Given the description of an element on the screen output the (x, y) to click on. 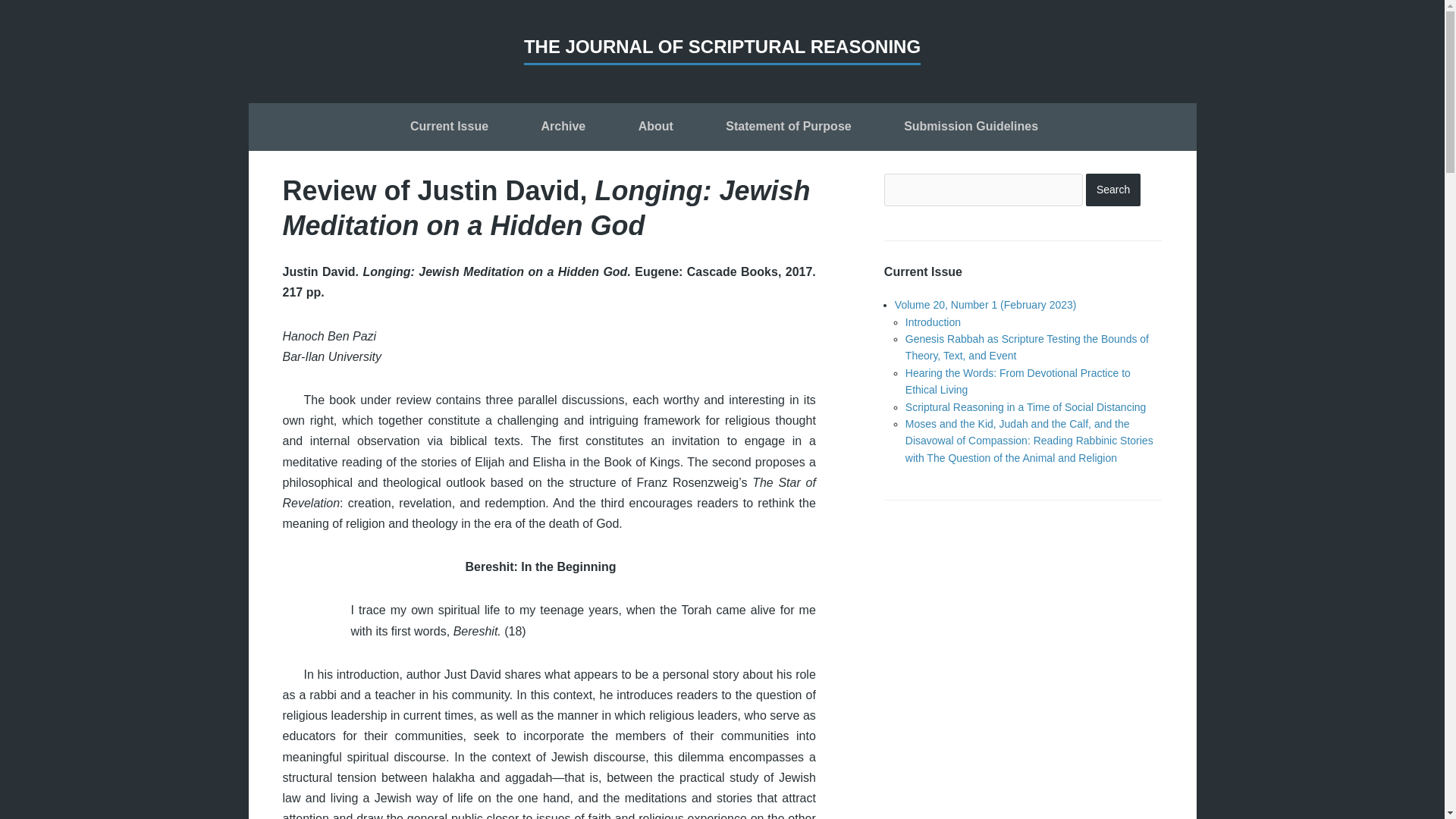
Archive (563, 128)
Current Issue (449, 128)
Introduction (932, 322)
Search (1113, 189)
Statement of Purpose (787, 128)
Search (1113, 189)
Scriptural Reasoning in a Time of Social Distancing (1026, 407)
THE JOURNAL OF SCRIPTURAL REASONING (722, 49)
About (655, 128)
Submission Guidelines (970, 128)
Search (1113, 189)
